Given the description of an element on the screen output the (x, y) to click on. 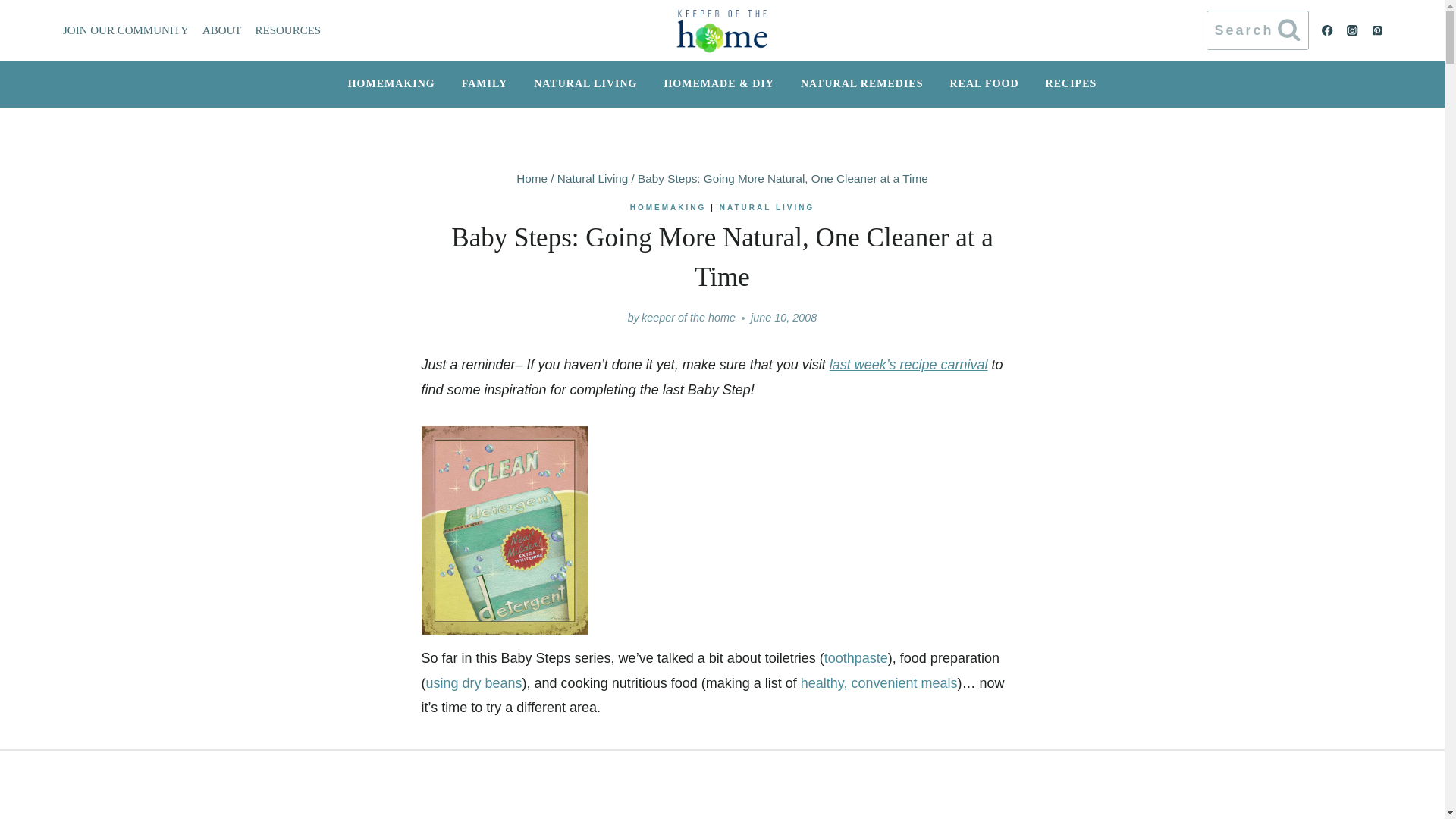
RESOURCES (288, 29)
toothpaste (856, 657)
healthy, convenient meals (879, 683)
HOMEMAKING (668, 207)
JOIN OUR COMMUNITY (125, 29)
REAL FOOD (984, 83)
ABOUT (221, 29)
Search (1257, 29)
keeper of the home (688, 317)
FAMILY (483, 83)
NATURAL LIVING (767, 207)
Natural Living (592, 178)
using dry beans (474, 683)
RECIPES (1070, 83)
NATURAL REMEDIES (861, 83)
